Given the description of an element on the screen output the (x, y) to click on. 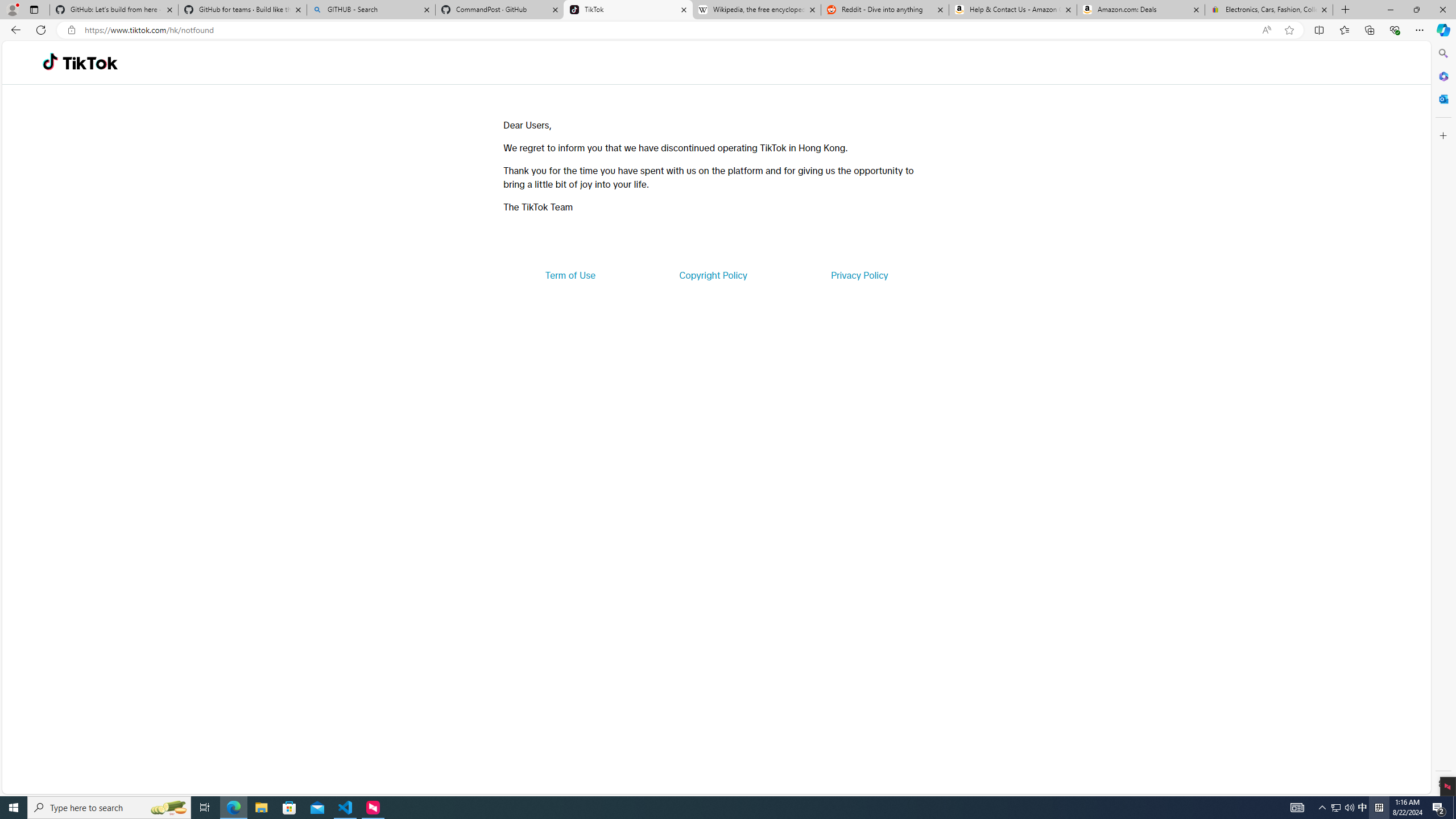
Amazon.com: Deals (1140, 9)
Term of Use (569, 274)
Wikipedia, the free encyclopedia (756, 9)
